Given the description of an element on the screen output the (x, y) to click on. 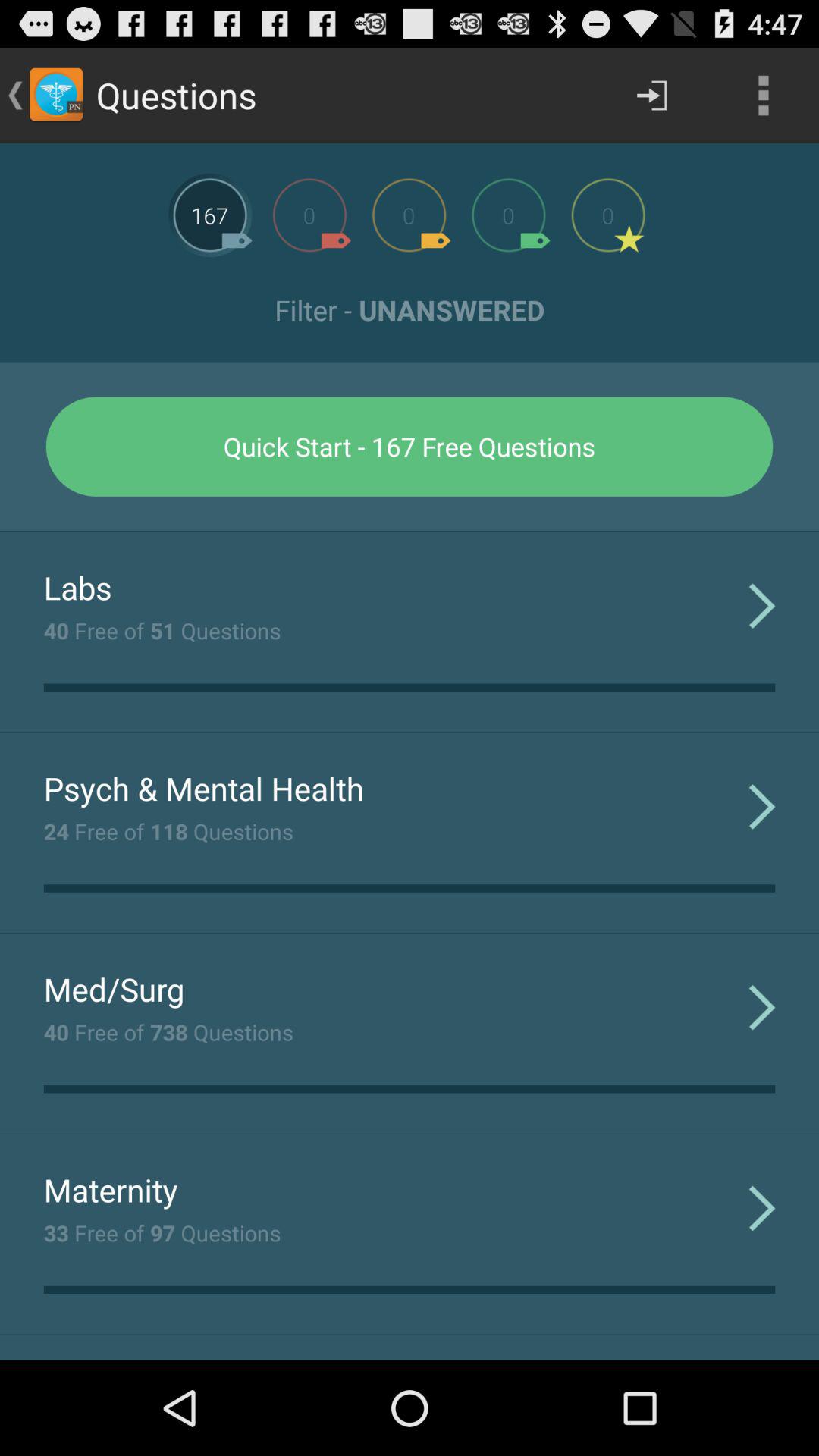
add your status (309, 215)
